Given the description of an element on the screen output the (x, y) to click on. 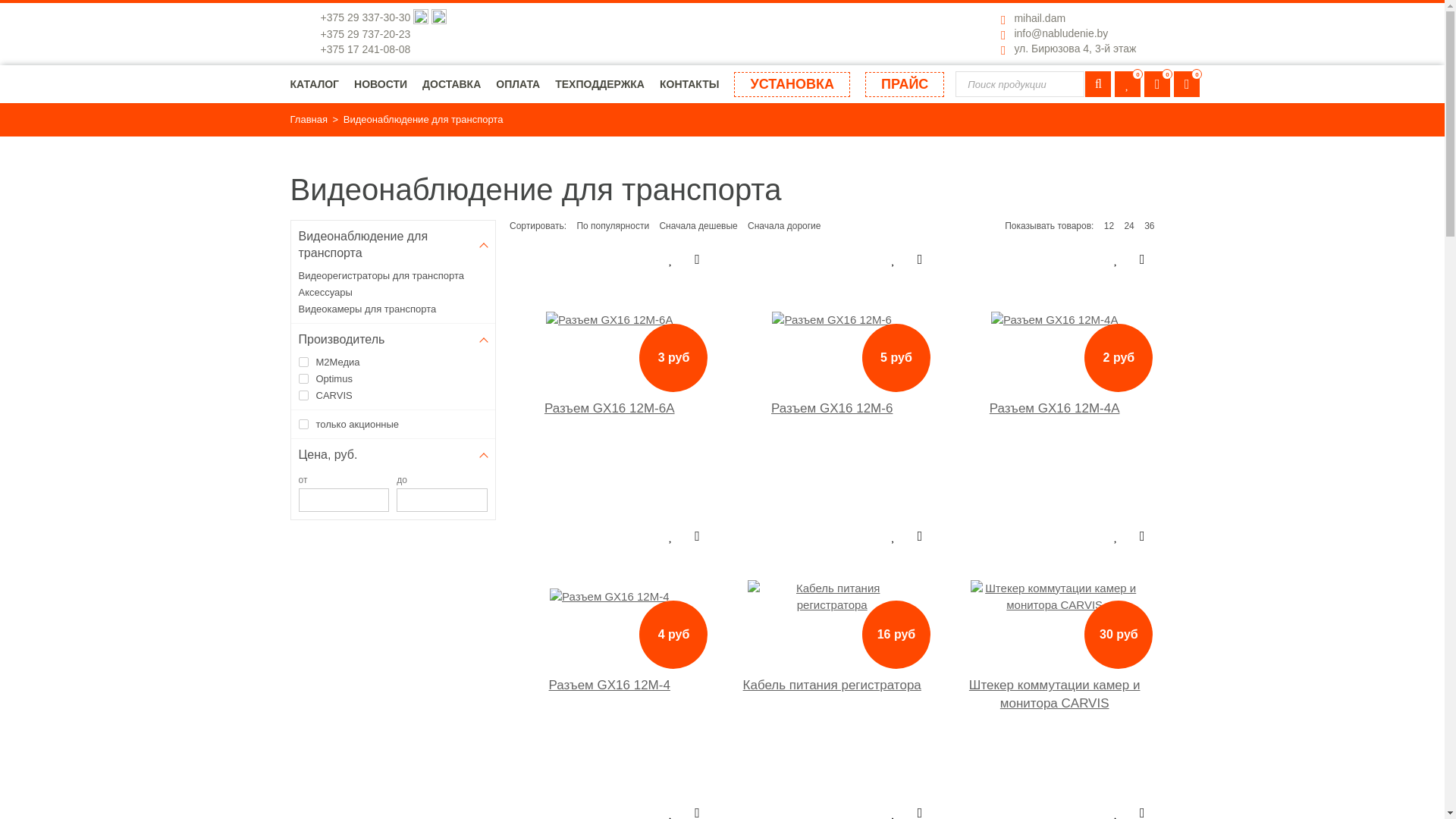
0 Element type: text (1186, 84)
mihail.dam Element type: text (1039, 18)
info@nabludenie.by Element type: text (1060, 33)
+375 17 241-08-08 Element type: text (365, 49)
+375 29 337-30-30 Element type: text (366, 17)
24 Element type: text (1128, 225)
12 Element type: text (1108, 225)
+375 29 737-20-23 Element type: text (365, 34)
0 Element type: text (1157, 84)
36 Element type: text (1149, 225)
0 Element type: text (1127, 84)
